Given the description of an element on the screen output the (x, y) to click on. 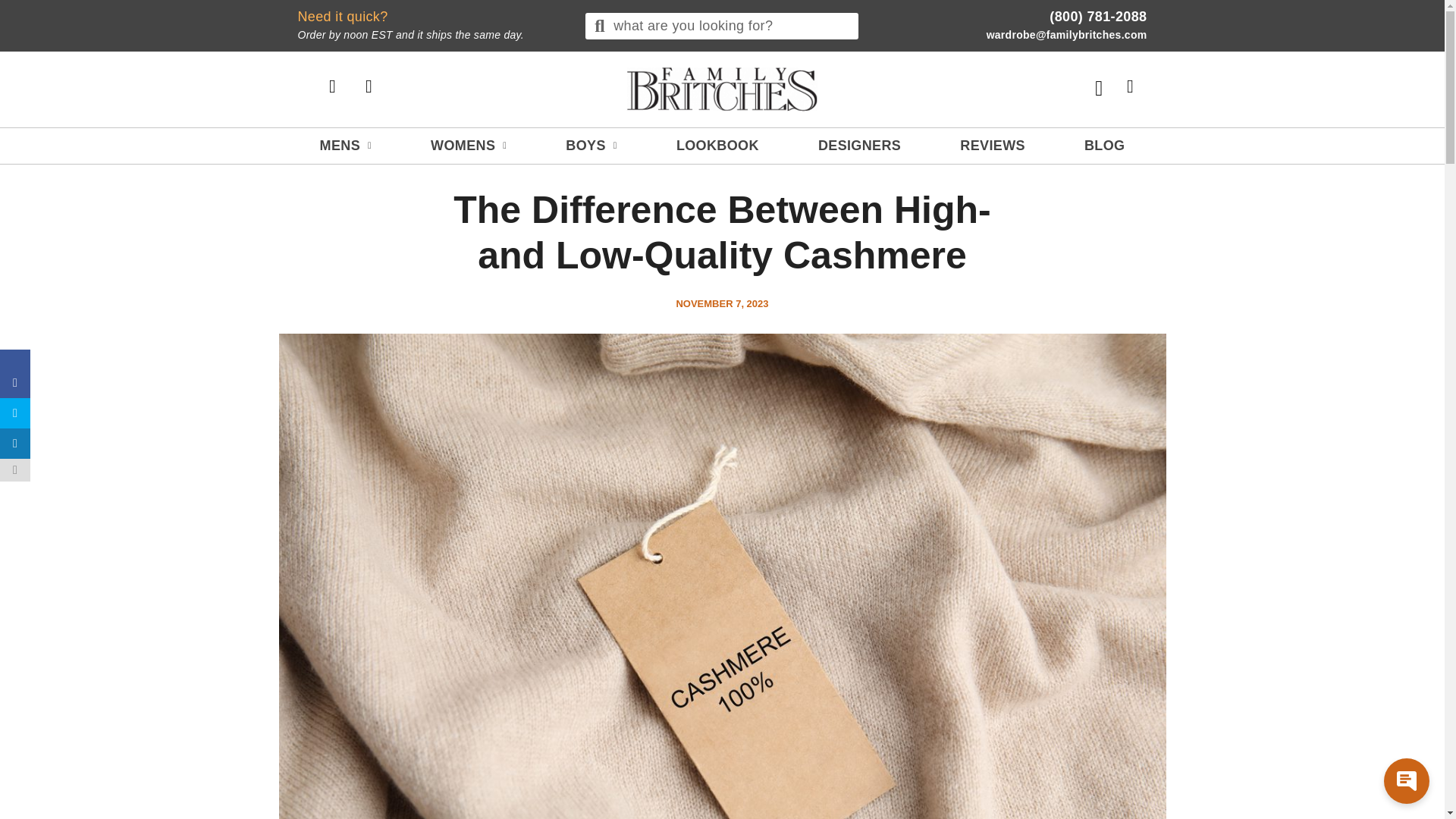
Boys Collection (590, 145)
MENS (345, 145)
Womens Collection (468, 145)
WOMENS (433, 26)
Mens Collection (468, 145)
